Given the description of an element on the screen output the (x, y) to click on. 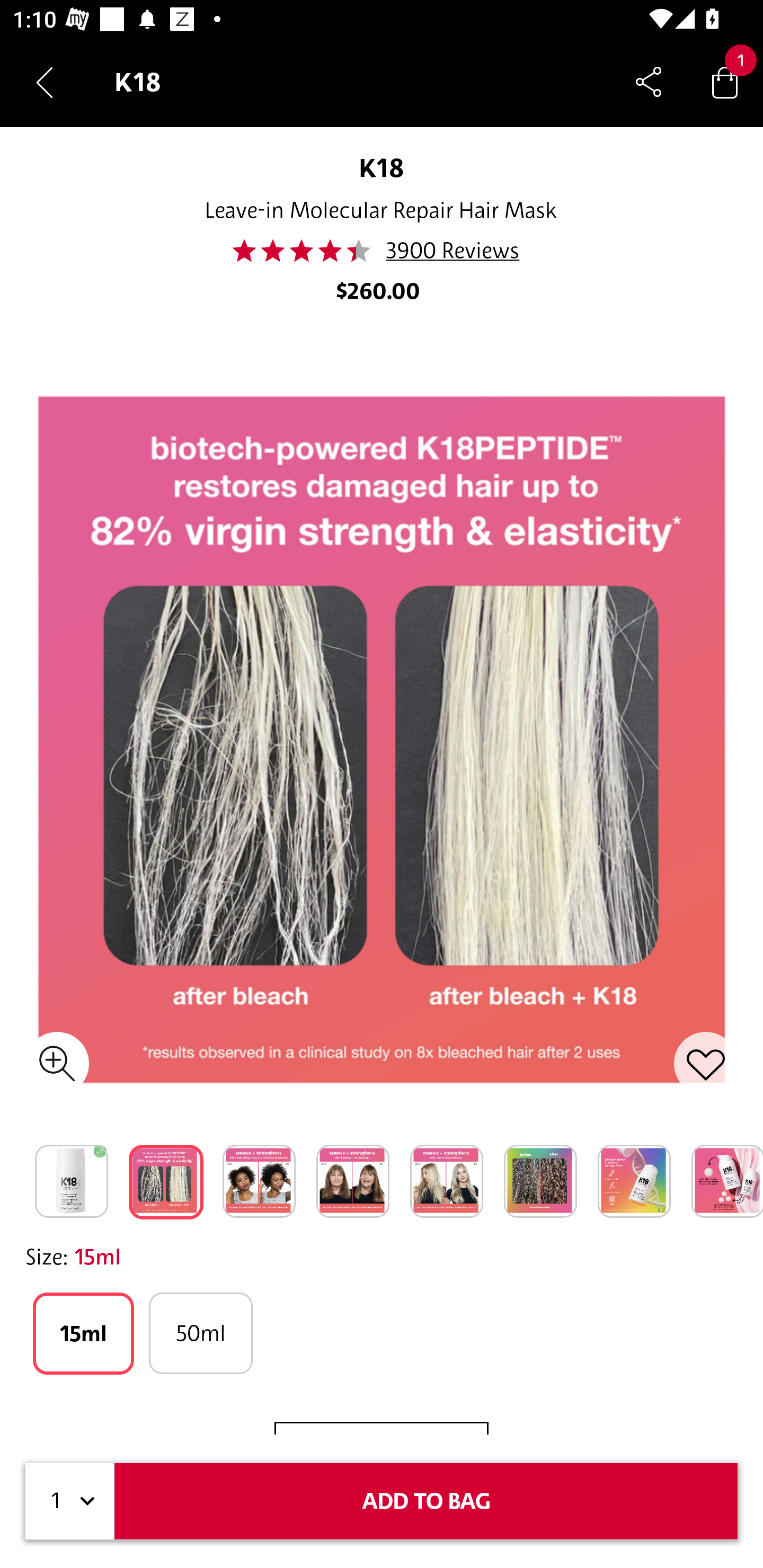
Navigate up (44, 82)
Share (648, 81)
Bag (724, 81)
K18 (381, 167)
44.0 3900 Reviews (380, 250)
15ml (83, 1333)
50ml (200, 1332)
1 (69, 1500)
ADD TO BAG (425, 1500)
